Given the description of an element on the screen output the (x, y) to click on. 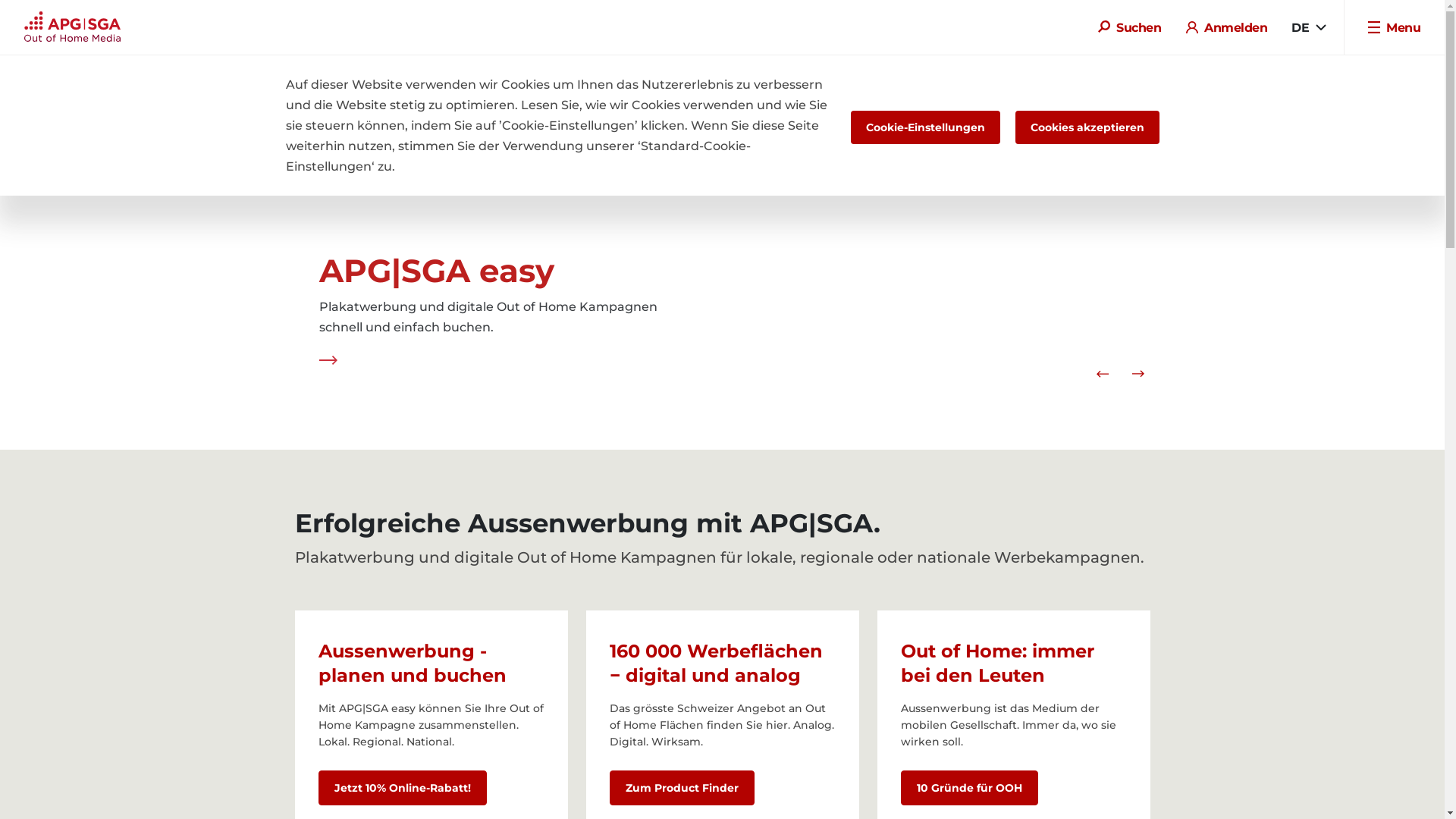
DE Element type: text (1308, 27)
Cookies akzeptieren Element type: text (1086, 127)
Cookie-Einstellungen Element type: text (925, 127)
